Given the description of an element on the screen output the (x, y) to click on. 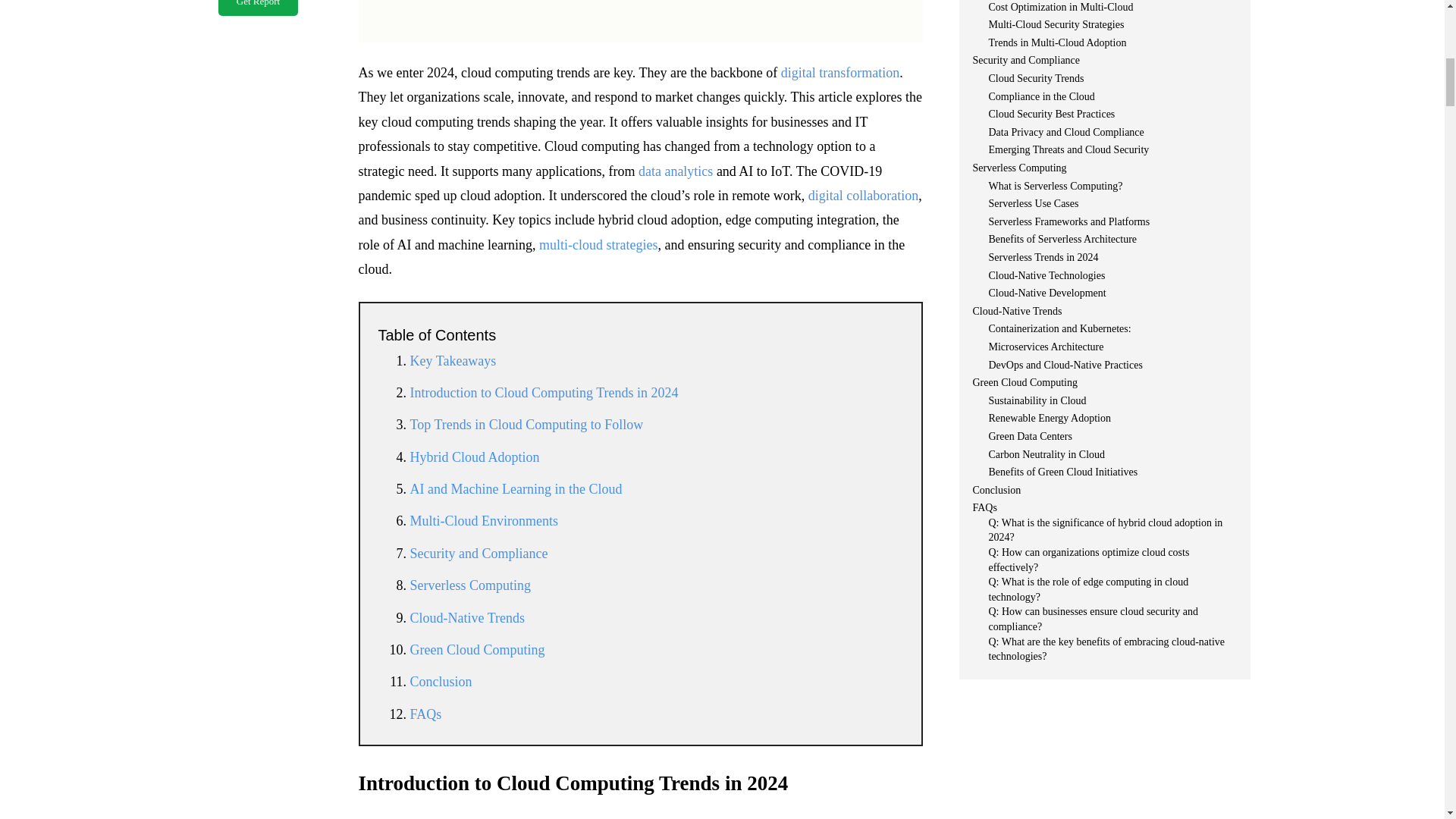
Get Report (258, 7)
data analytics (676, 171)
Security and Compliance (478, 553)
Cloud-Native Trends (466, 617)
Conclusion (440, 681)
Hybrid Cloud Adoption (473, 457)
Green Cloud Computing (476, 649)
digital transformation (839, 72)
Serverless Computing (470, 585)
digital transformation (839, 72)
